Given the description of an element on the screen output the (x, y) to click on. 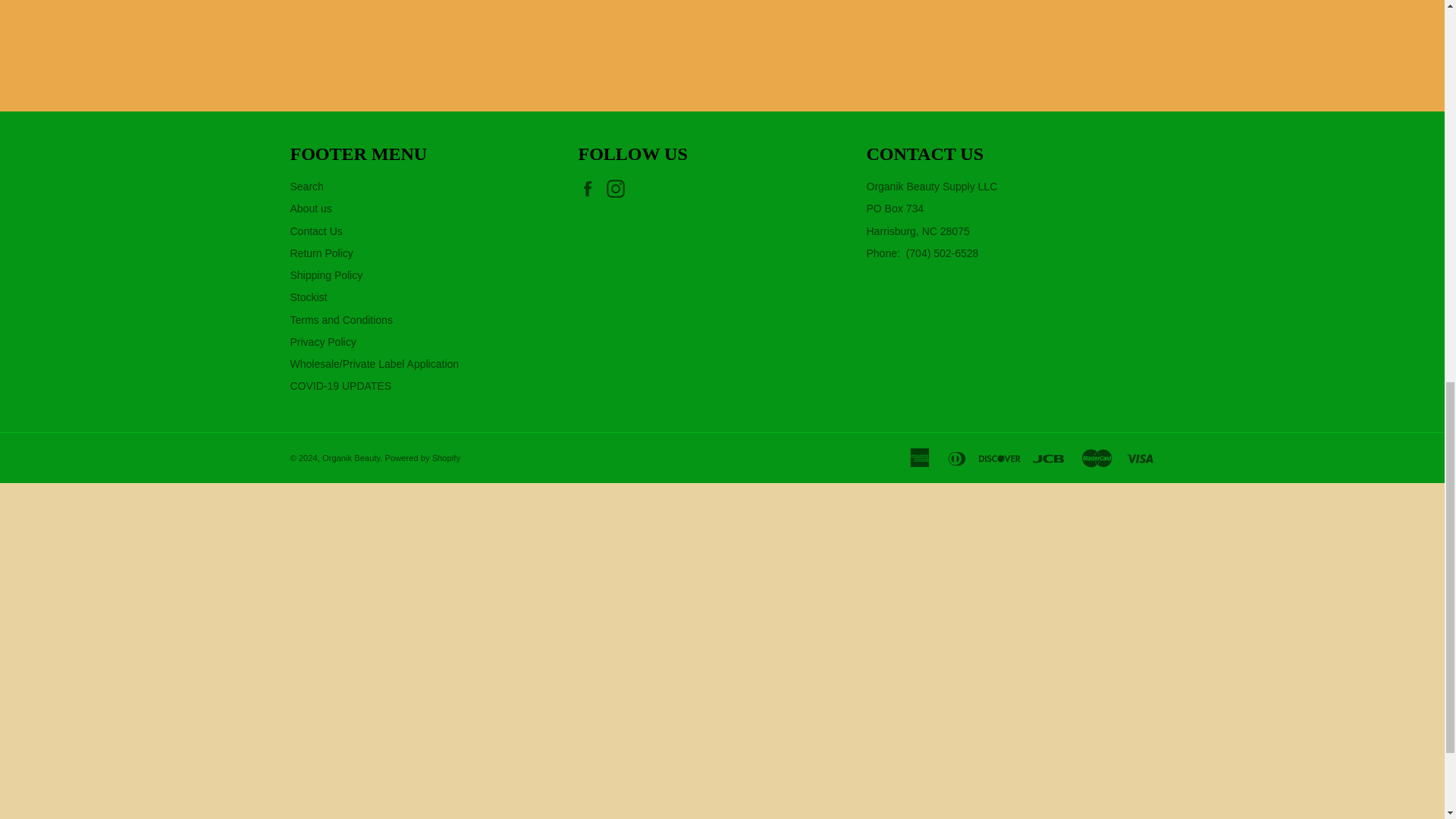
Organik Beauty on Instagram (619, 188)
Organik Beauty on Facebook (591, 188)
